Given the description of an element on the screen output the (x, y) to click on. 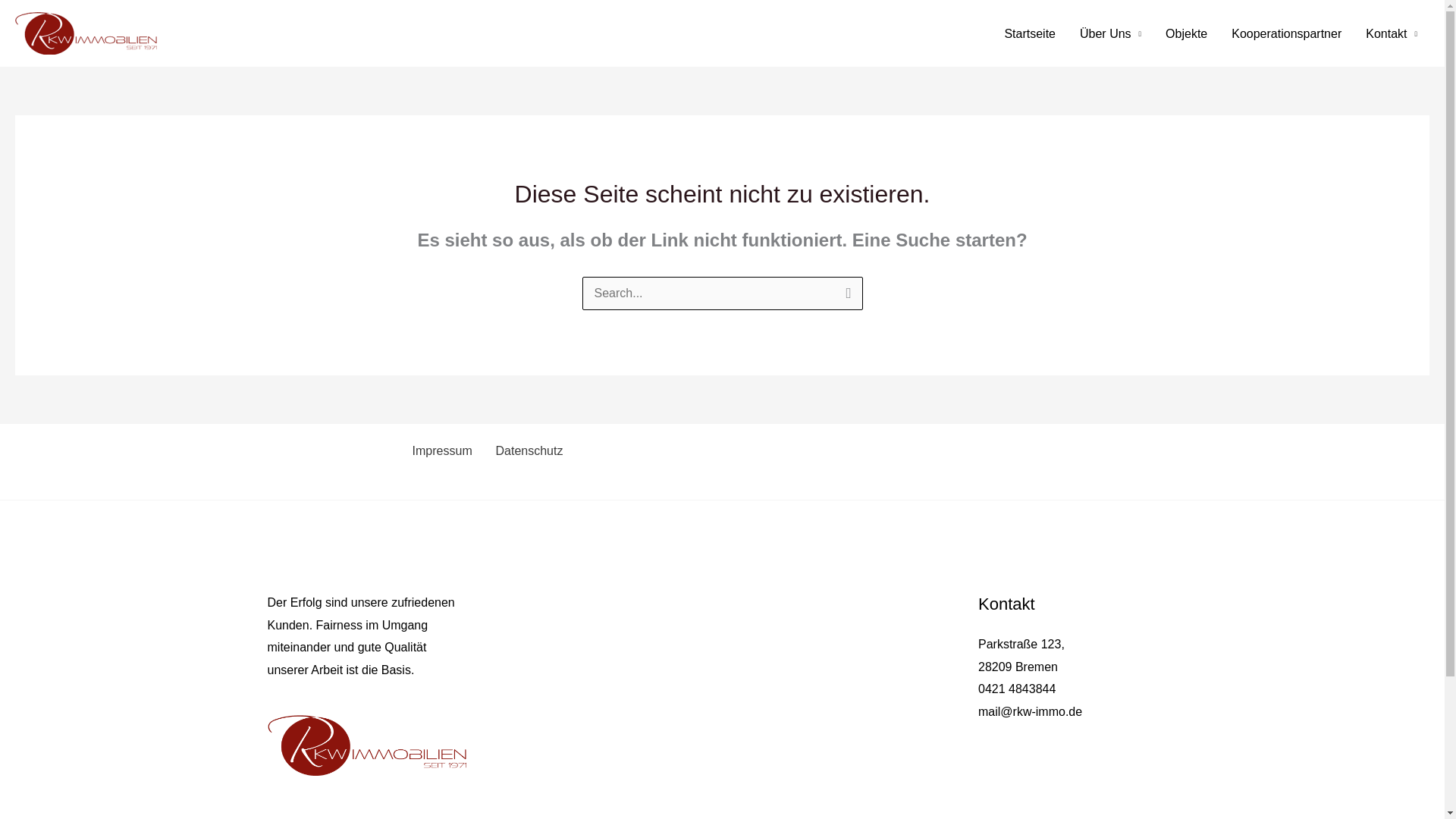
Kontakt (1391, 32)
0421 4843844 (1016, 688)
Startseite (1029, 32)
Impressum (440, 451)
28209 Bremen (1018, 666)
Datenschutz (526, 451)
Objekte (1186, 32)
Kooperationspartner (1287, 32)
